Given the description of an element on the screen output the (x, y) to click on. 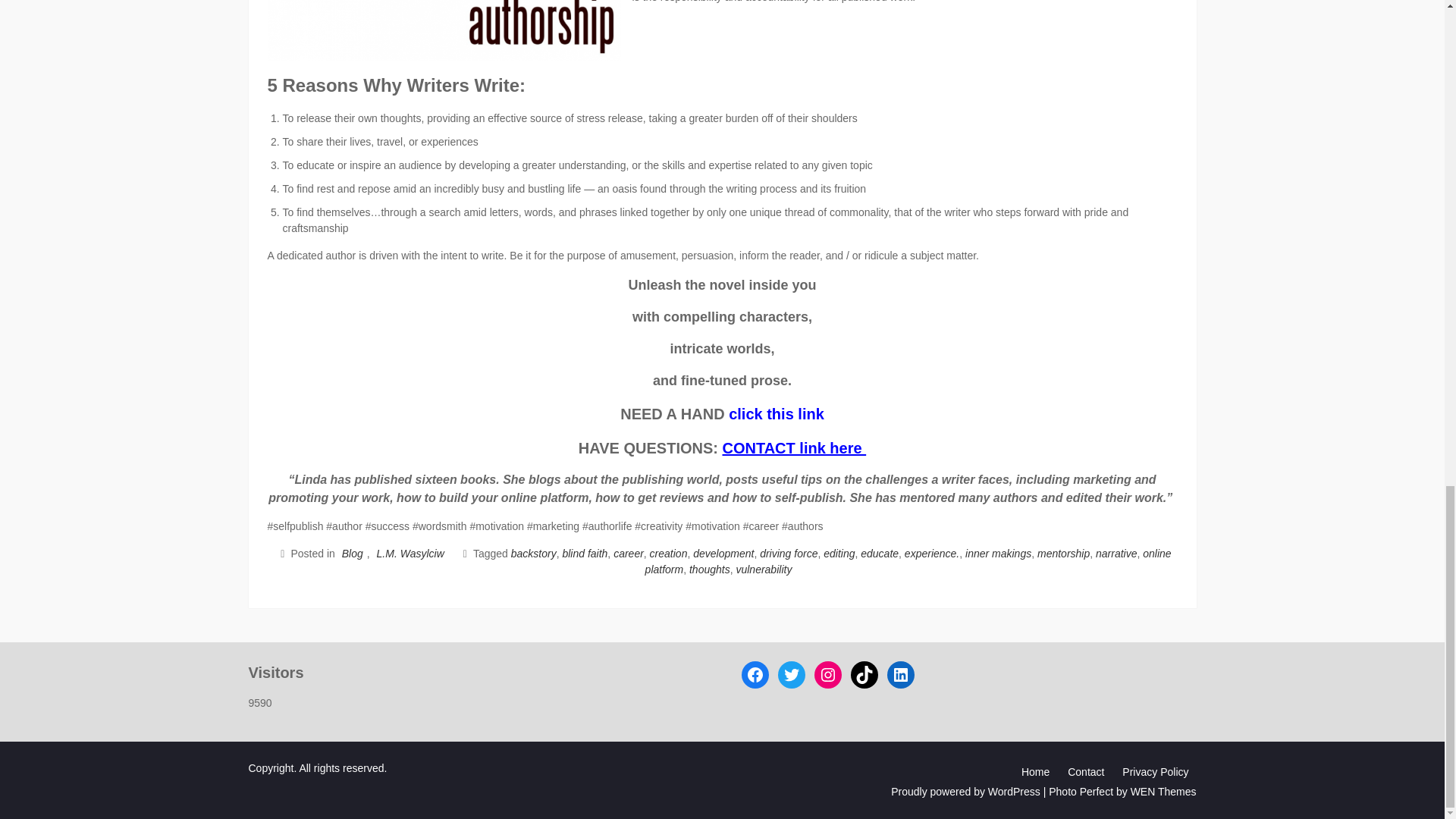
Home (1035, 771)
